Given the description of an element on the screen output the (x, y) to click on. 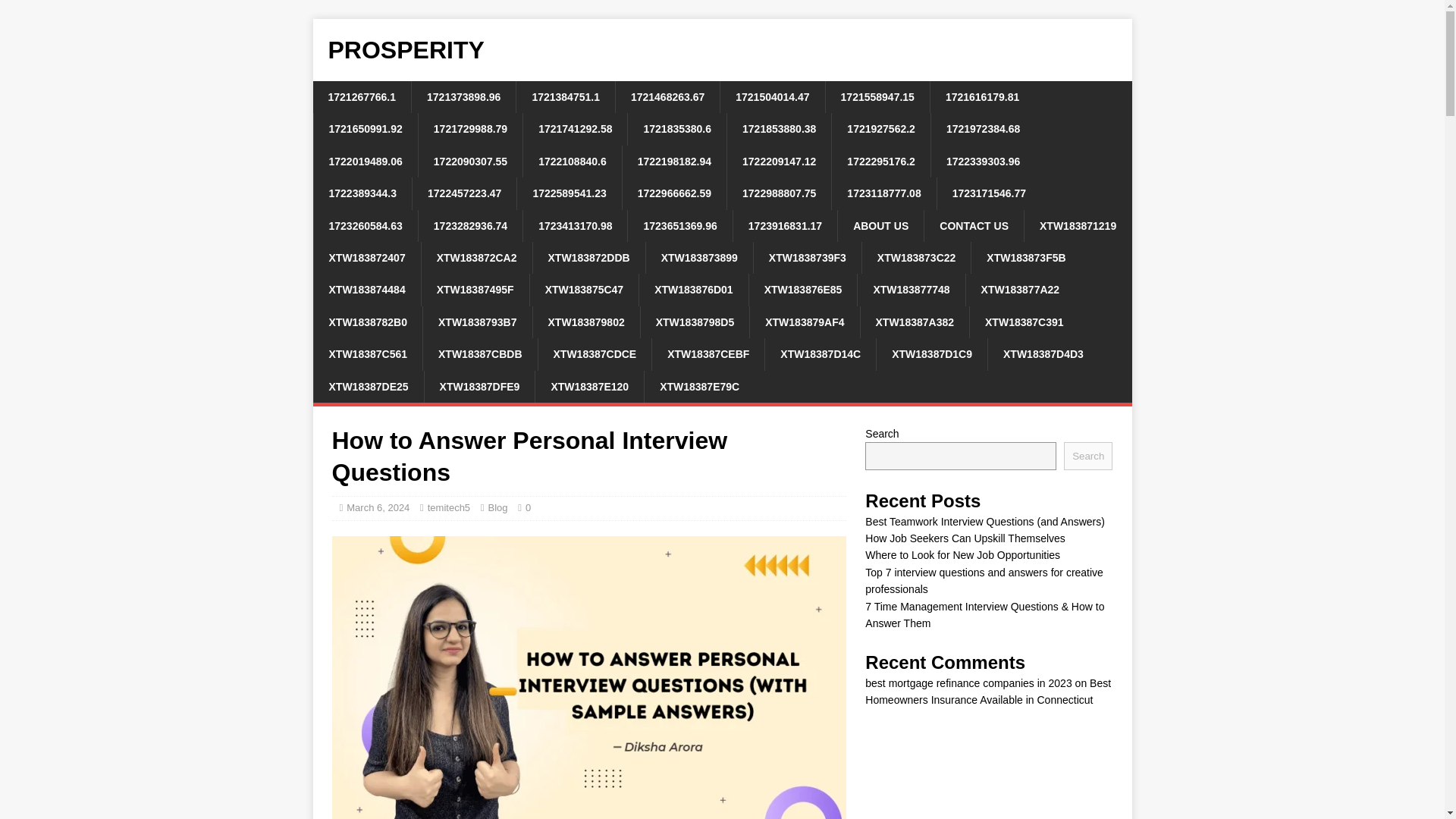
Prosperity (721, 49)
PROSPERITY (721, 49)
